Given the description of an element on the screen output the (x, y) to click on. 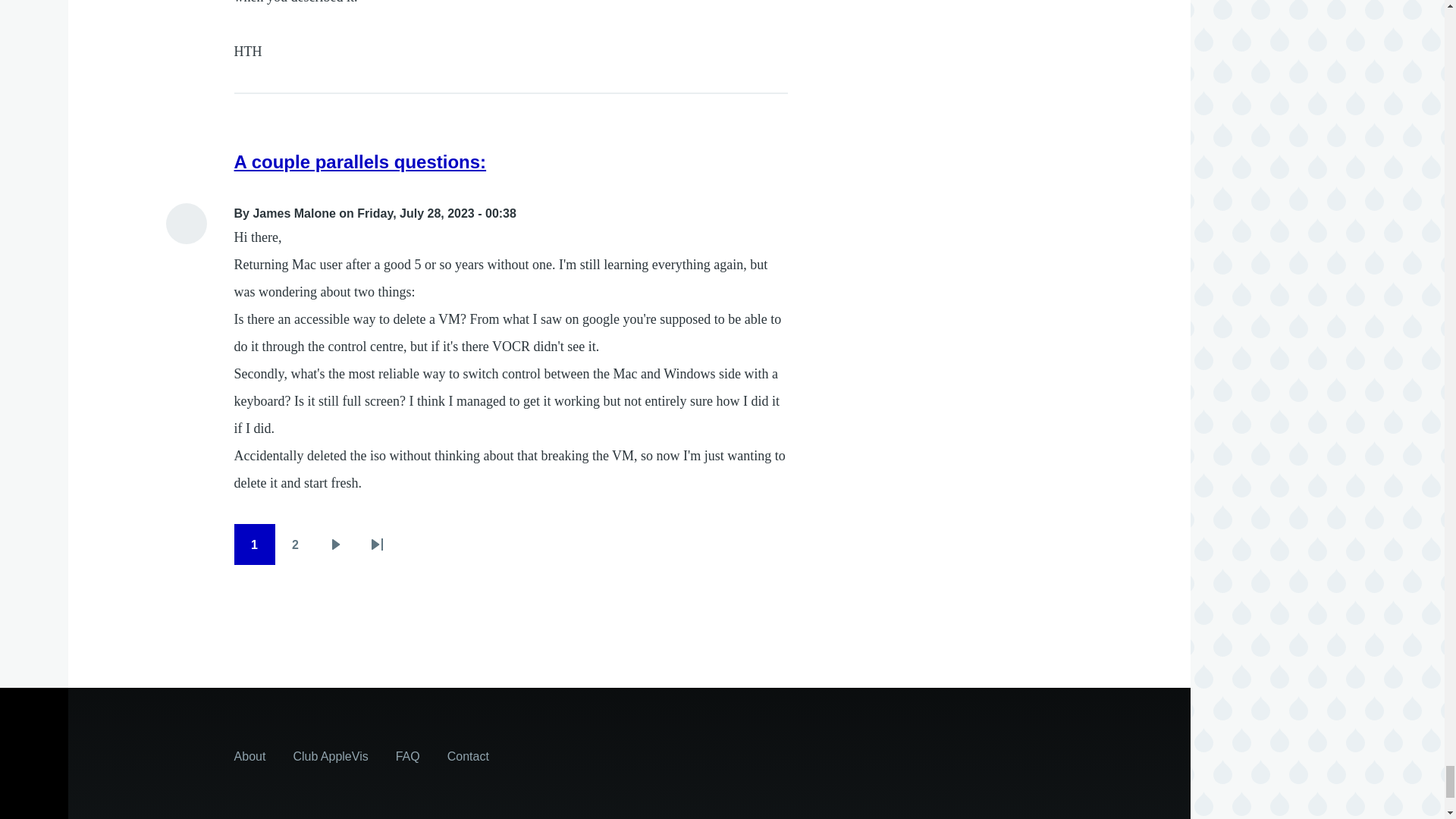
Go to page 2 (295, 544)
Answers to some frequently asked questions about AppleVis (408, 755)
Go to next page (335, 544)
Go to last page (376, 544)
About (250, 755)
